Given the description of an element on the screen output the (x, y) to click on. 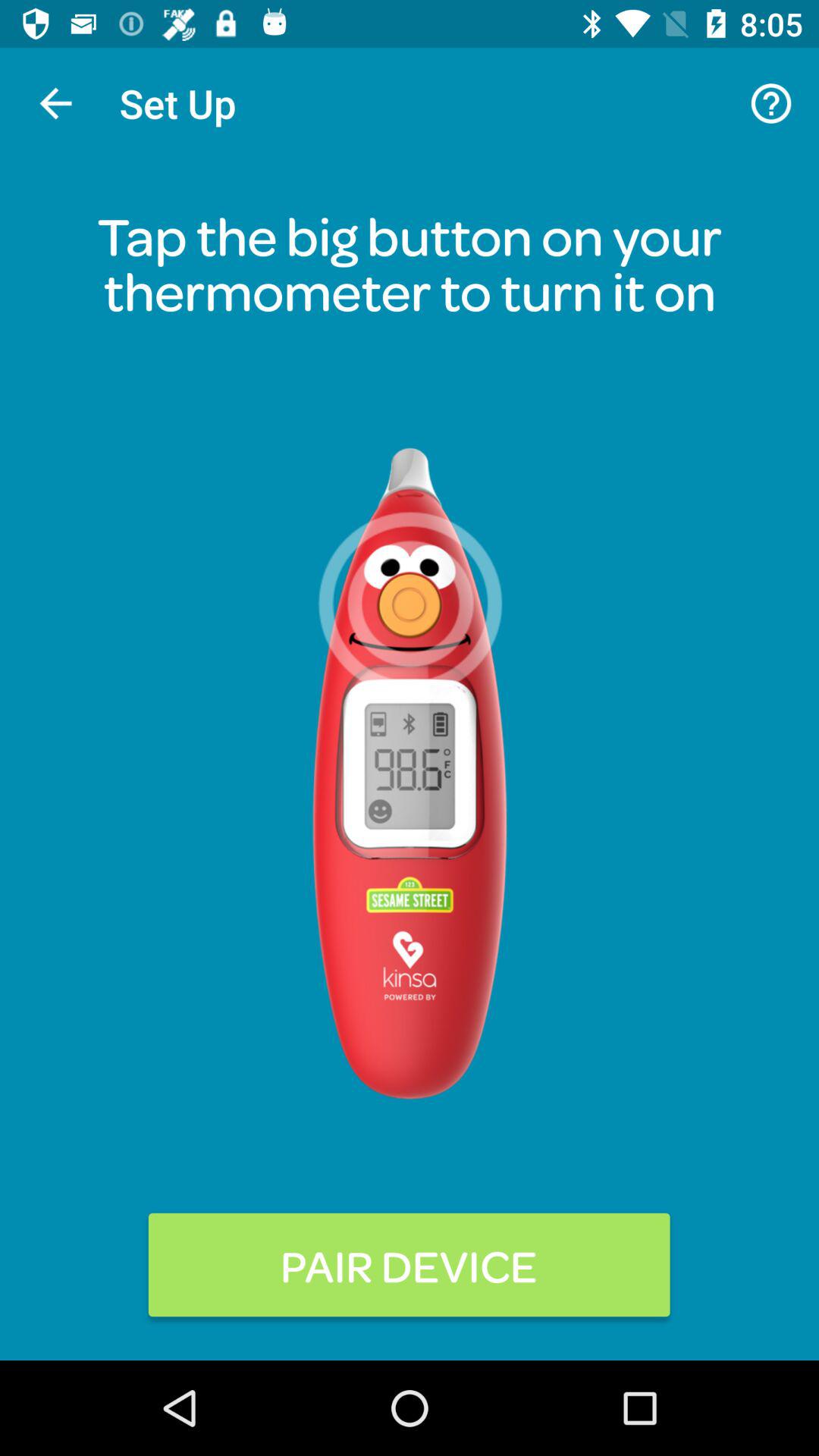
go back (55, 103)
